Given the description of an element on the screen output the (x, y) to click on. 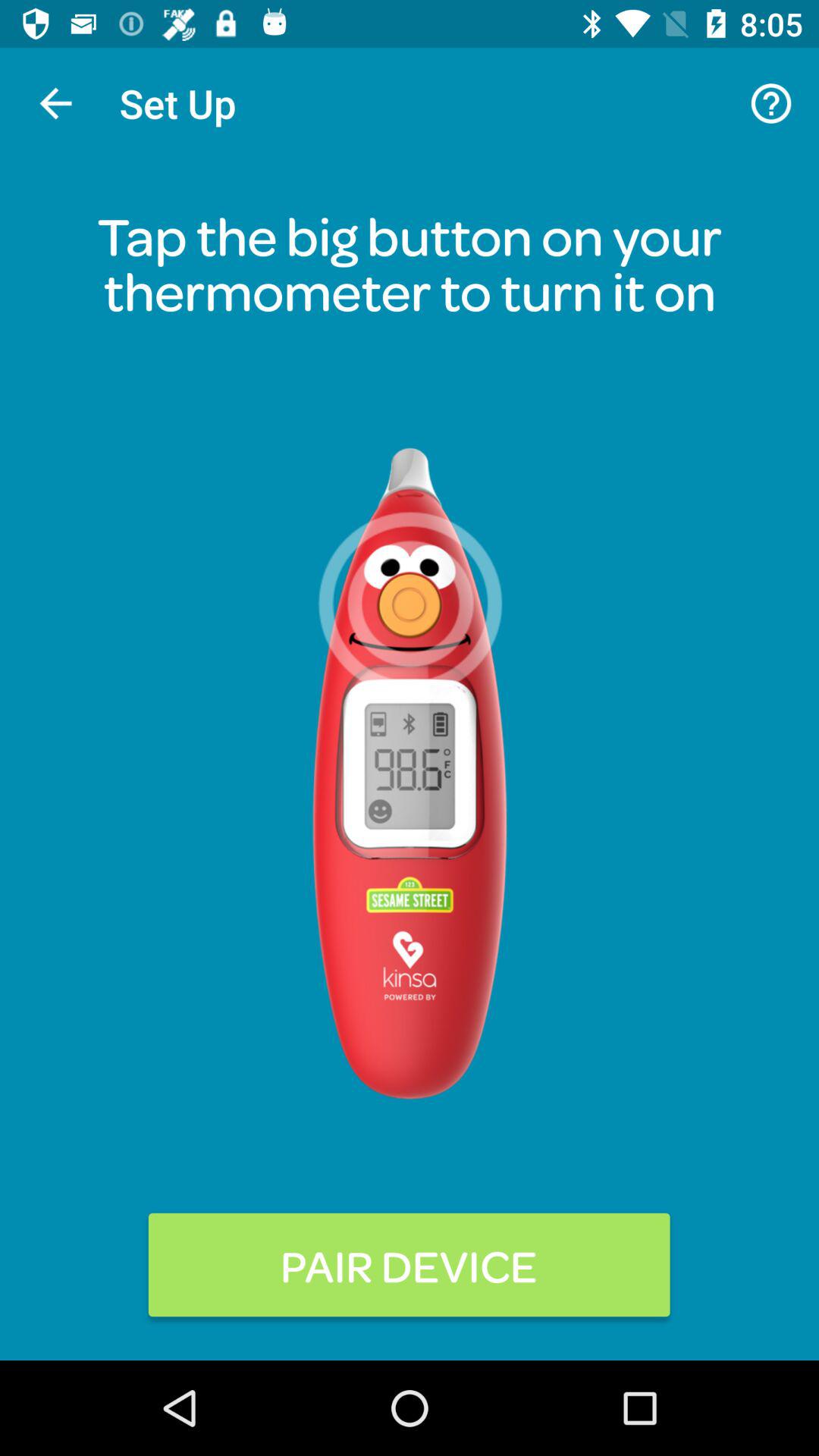
go back (55, 103)
